Given the description of an element on the screen output the (x, y) to click on. 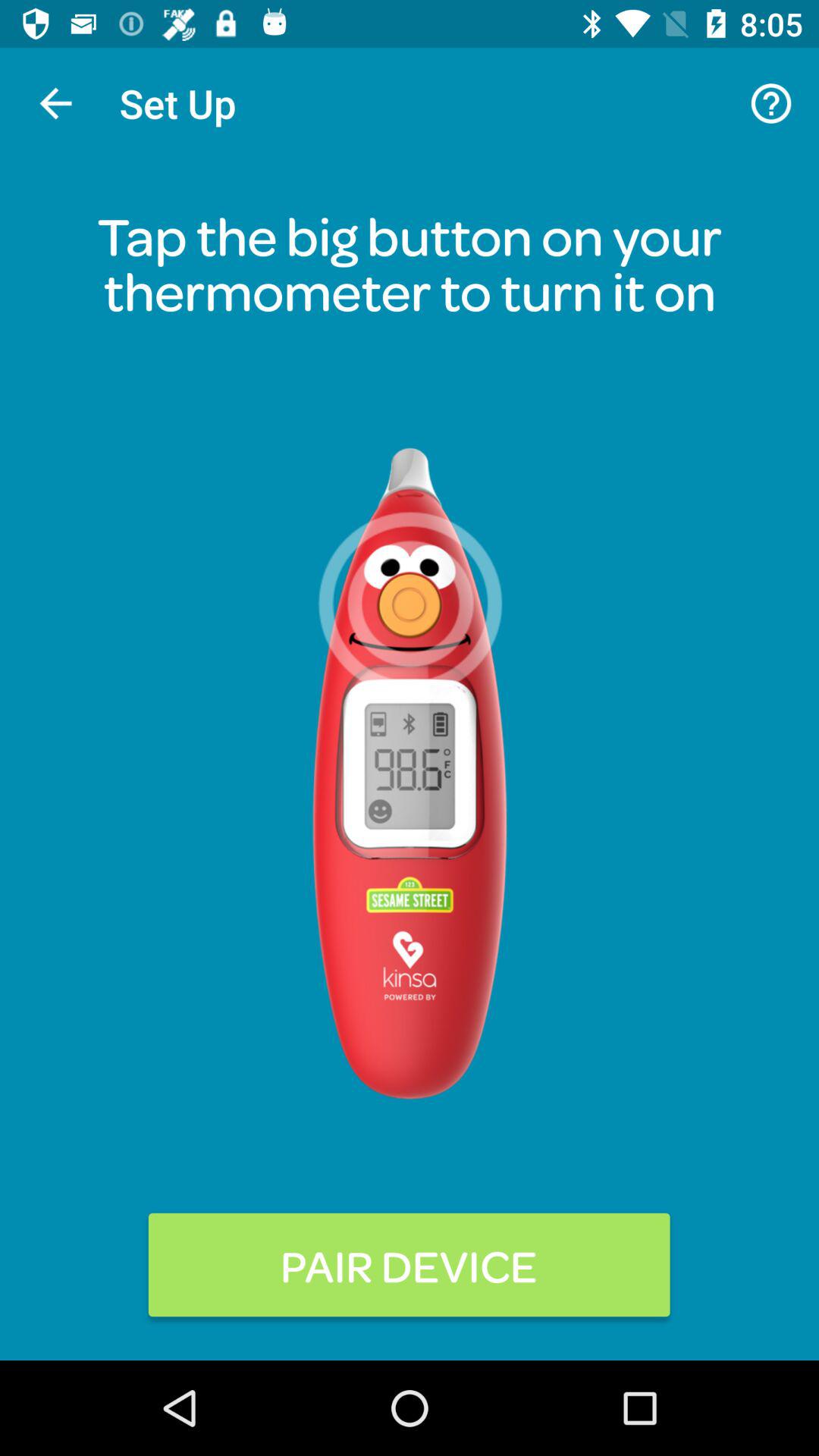
go back (55, 103)
